Given the description of an element on the screen output the (x, y) to click on. 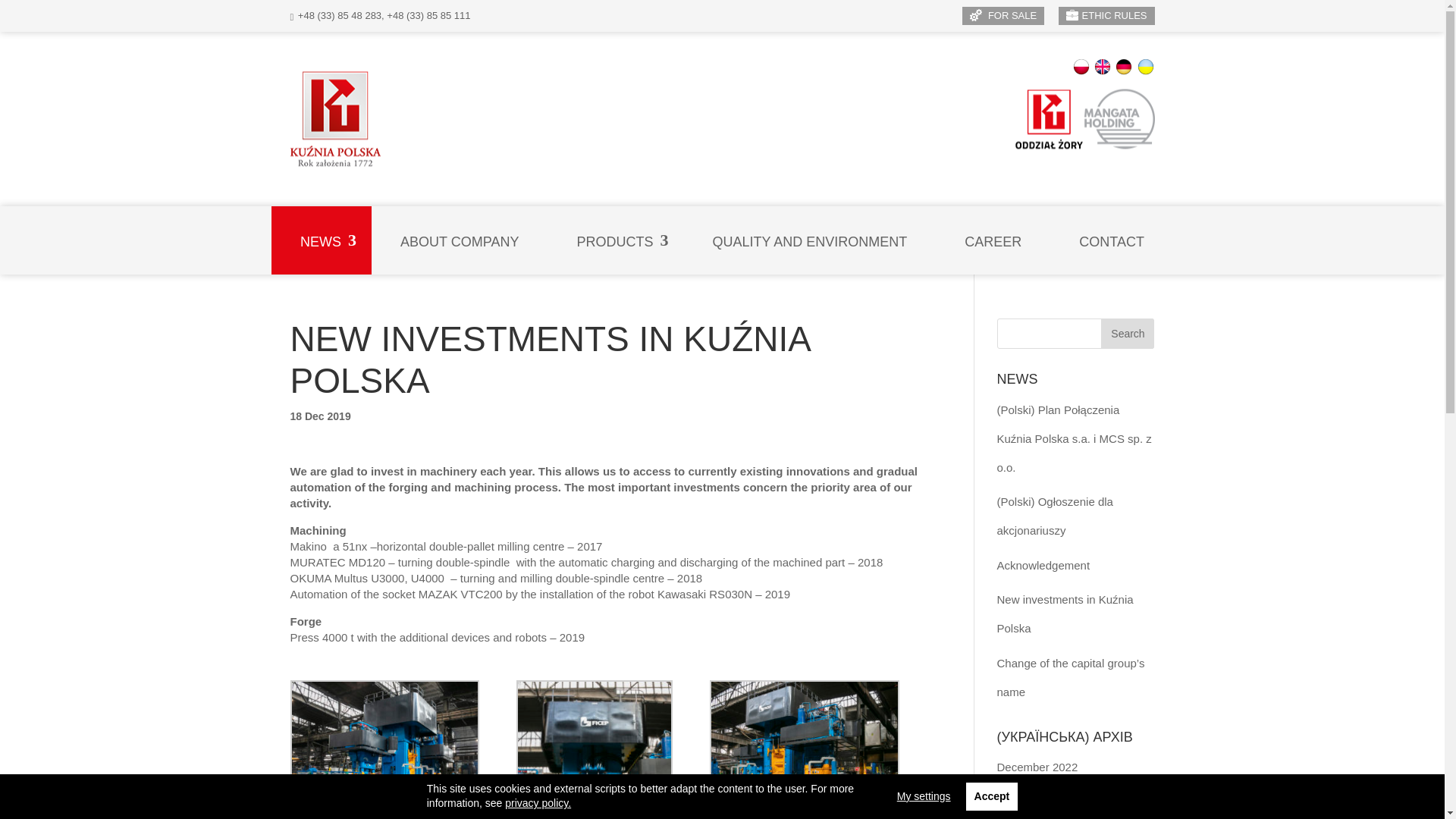
CAREER (992, 240)
FOR SALE (1002, 15)
ABOUT COMPANY (459, 240)
Accept (991, 796)
CONTACT (1111, 240)
My settings (923, 796)
Search (1127, 333)
privacy policy. (537, 802)
NEWS (313, 240)
ETHIC RULES (1106, 15)
QUALITY AND ENVIRONMENT (809, 240)
PRODUCTS (607, 240)
